Given the description of an element on the screen output the (x, y) to click on. 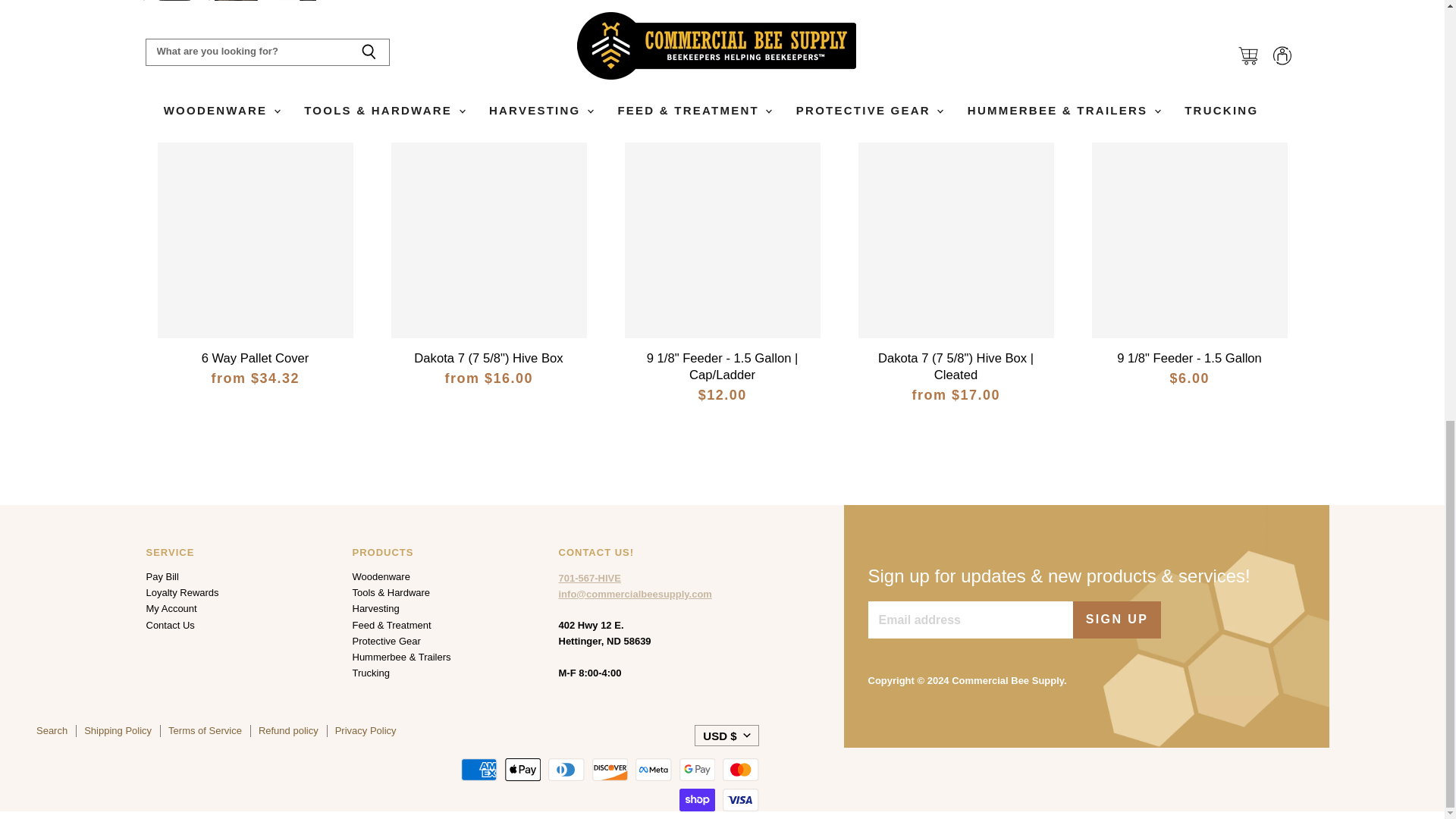
tel:701-567-HIVE (588, 577)
